Given the description of an element on the screen output the (x, y) to click on. 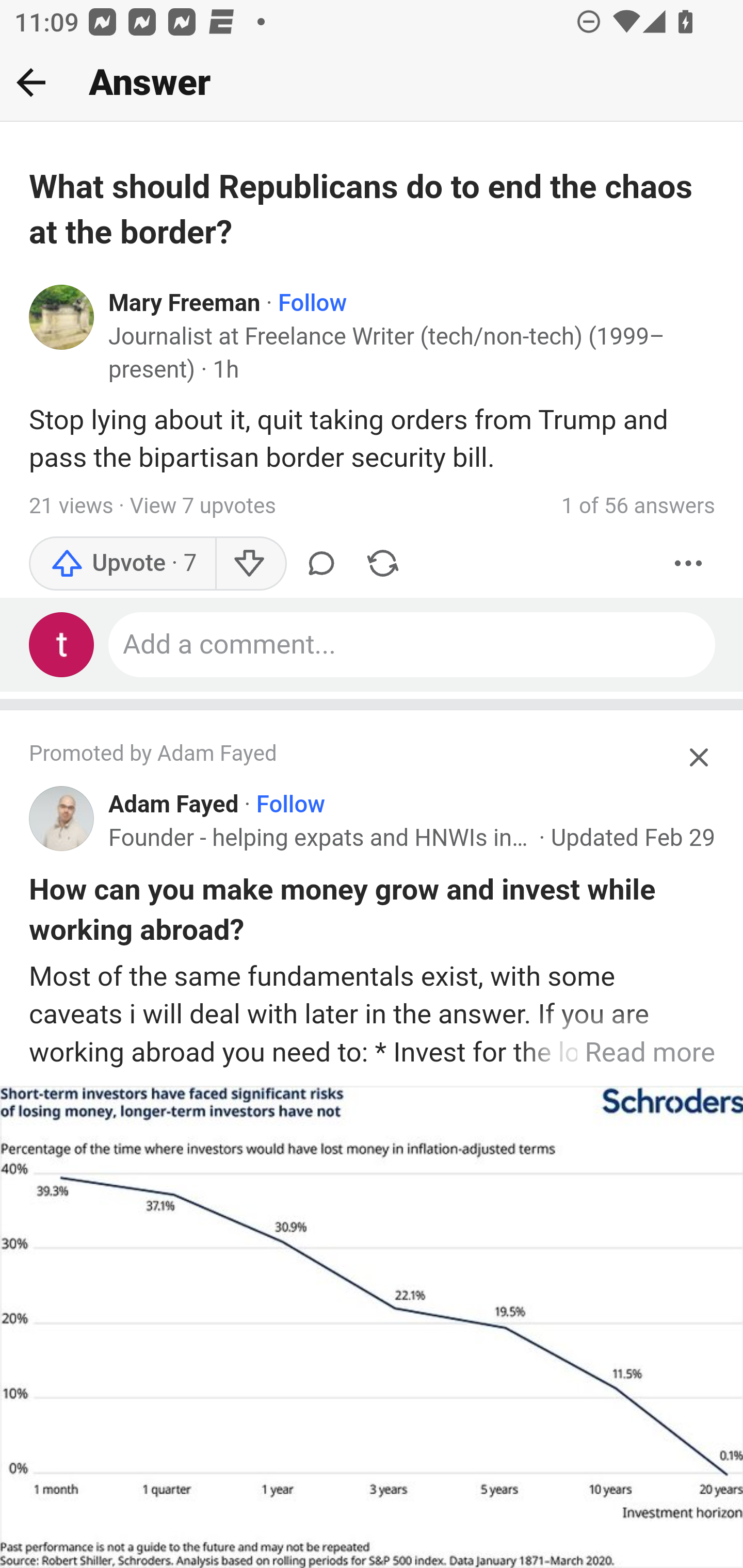
Back (30, 82)
Profile photo for Mary Freeman (61, 317)
Mary Freeman (184, 303)
Follow (312, 303)
View 7 upvotes (201, 505)
1 of 56 answers (637, 505)
Upvote (122, 562)
Downvote (249, 562)
Comment (321, 562)
Share (382, 562)
More (688, 562)
Profile photo for Test Appium (61, 643)
Add a comment... (412, 643)
Hide (699, 757)
Promoted by Adam Fayed (352, 755)
Profile photo for Adam Fayed (61, 818)
Adam Fayed (173, 804)
Follow (290, 804)
